Given the description of an element on the screen output the (x, y) to click on. 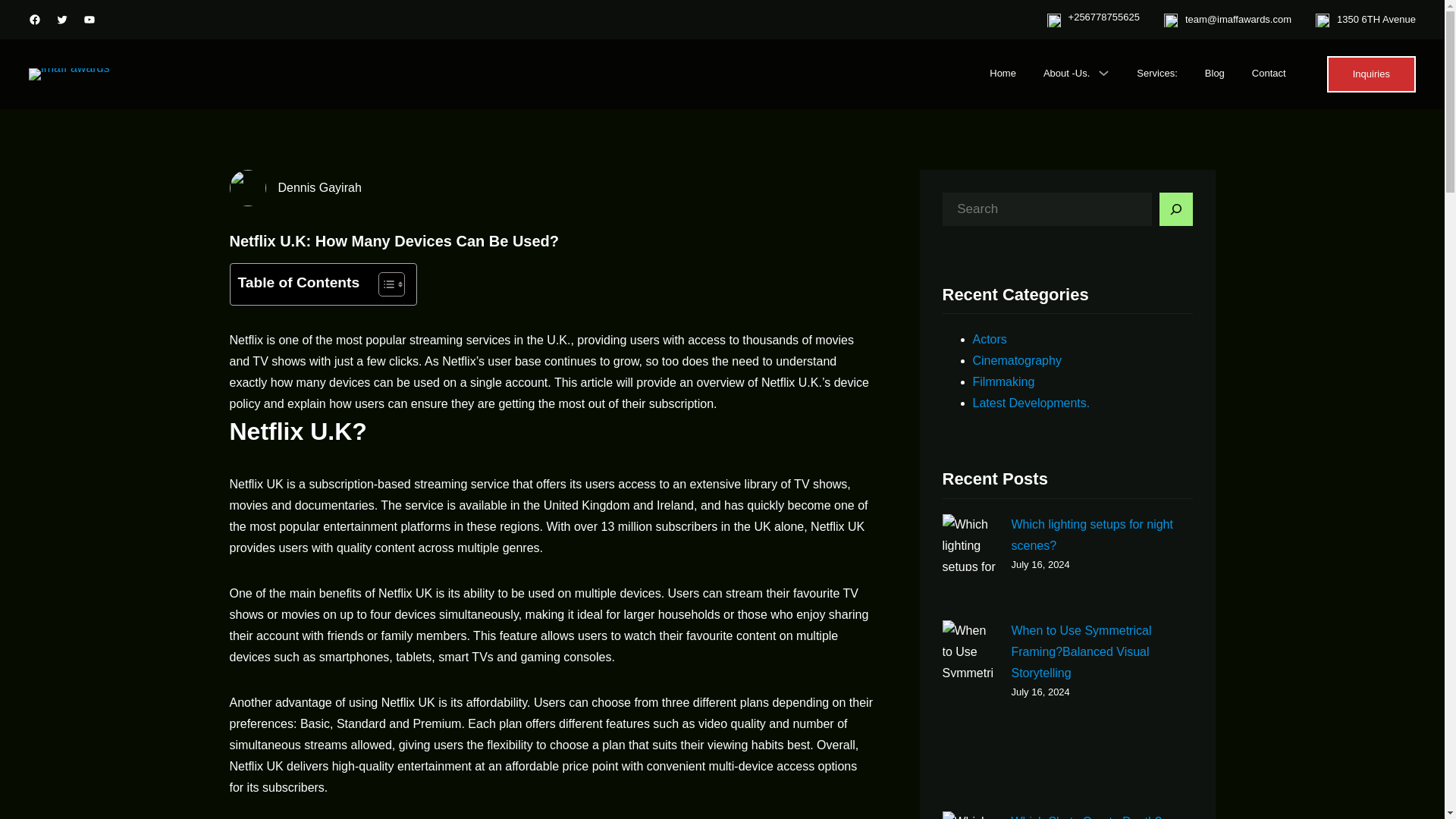
Cinematography (1016, 359)
Actors (989, 338)
Filmmaking (1002, 381)
When to Use Symmetrical Framing?Balanced Visual Storytelling (1081, 651)
Which lighting setups for night scenes? (1092, 534)
Twitter (62, 19)
Contact (1268, 73)
YouTube (89, 19)
Services: (1156, 73)
About -Us. (1066, 73)
Latest Developments. (1030, 402)
Facebook (34, 19)
Inquiries (1370, 74)
